Given the description of an element on the screen output the (x, y) to click on. 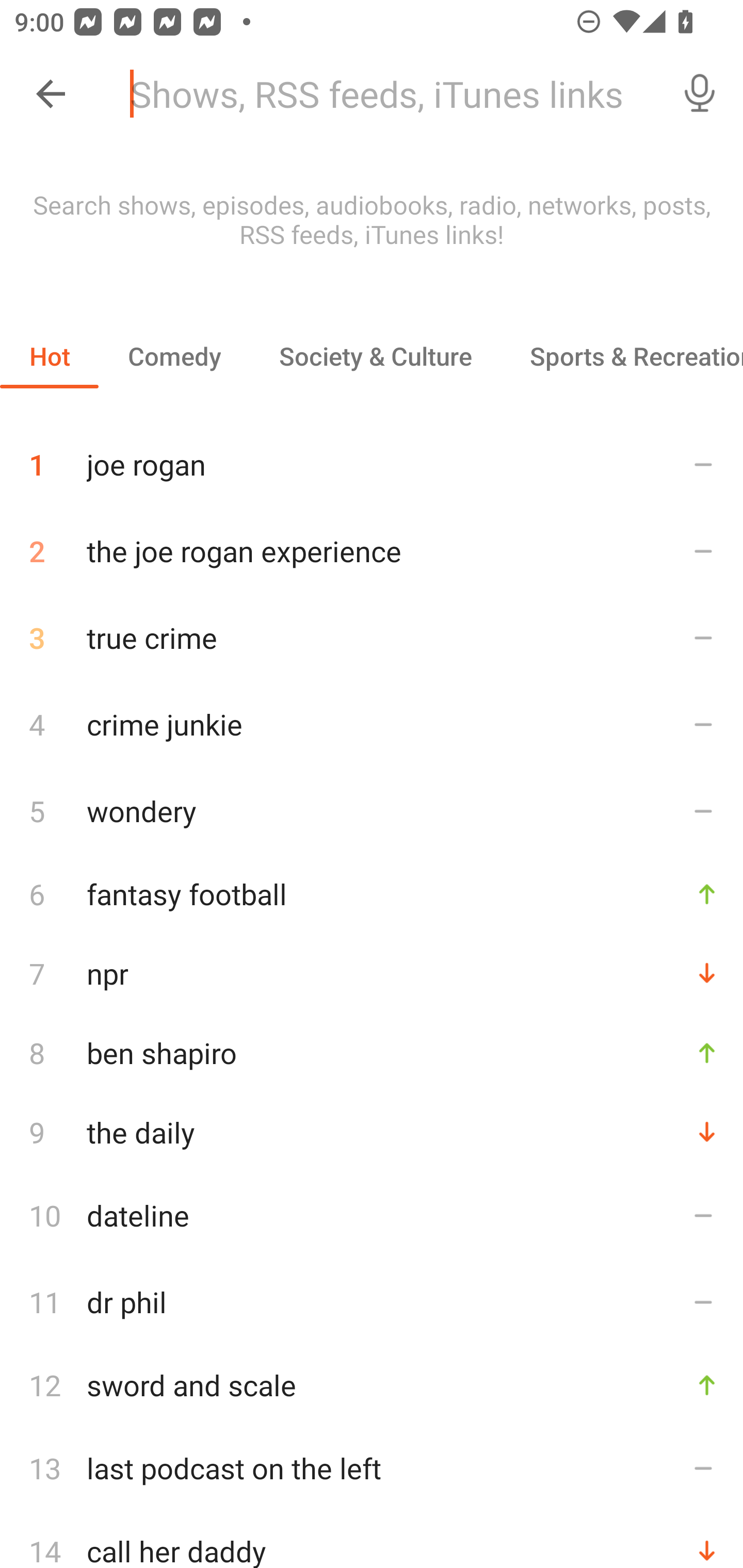
Collapse (50, 93)
Voice Search (699, 93)
Shows, RSS feeds, iTunes links (385, 94)
Hot (49, 355)
Comedy (173, 355)
Society & Culture (374, 355)
Sports & Recreation (621, 355)
1 joe rogan (371, 457)
2 the joe rogan experience (371, 551)
3 true crime (371, 637)
4 crime junkie (371, 723)
5 wondery (371, 810)
6 fantasy football (371, 893)
7 npr (371, 972)
8 ben shapiro (371, 1052)
9 the daily (371, 1131)
10 dateline (371, 1215)
11 dr phil (371, 1302)
12 sword and scale (371, 1385)
13 last podcast on the left (371, 1468)
14 call her daddy (371, 1539)
